Given the description of an element on the screen output the (x, y) to click on. 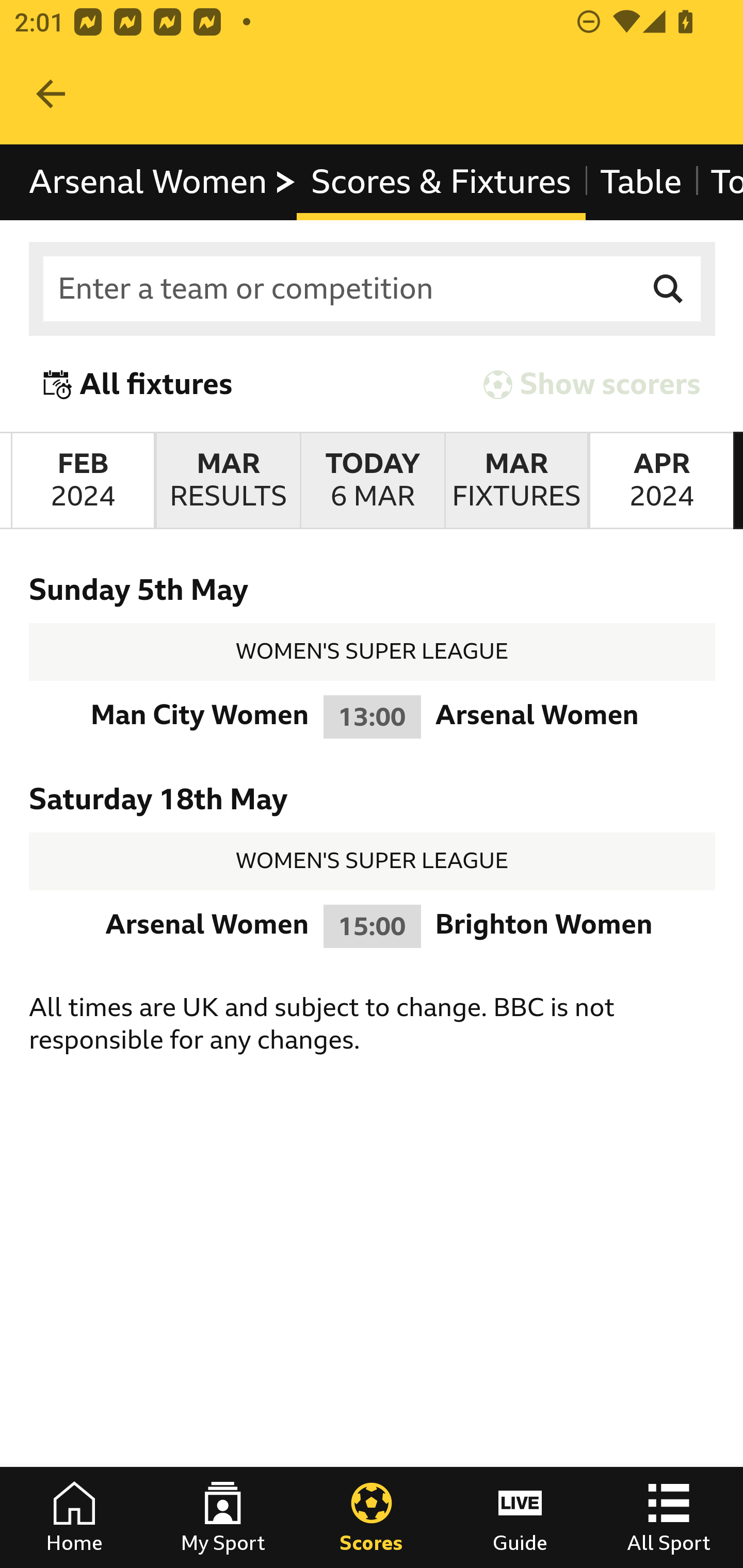
Navigate up (50, 93)
Arsenal Women  (162, 181)
Scores & Fixtures (441, 181)
Table (640, 181)
Search (669, 289)
All fixtures (137, 383)
Show scorers (591, 383)
February2024 February 2024 (83, 480)
MarchRESULTS March RESULTS (227, 480)
TodayMarch 6th Today March 6th (372, 480)
MarchFIXTURES March FIXTURES (516, 480)
April2024 April 2024 (661, 480)
Home (74, 1517)
My Sport (222, 1517)
Guide (519, 1517)
All Sport (668, 1517)
